Given the description of an element on the screen output the (x, y) to click on. 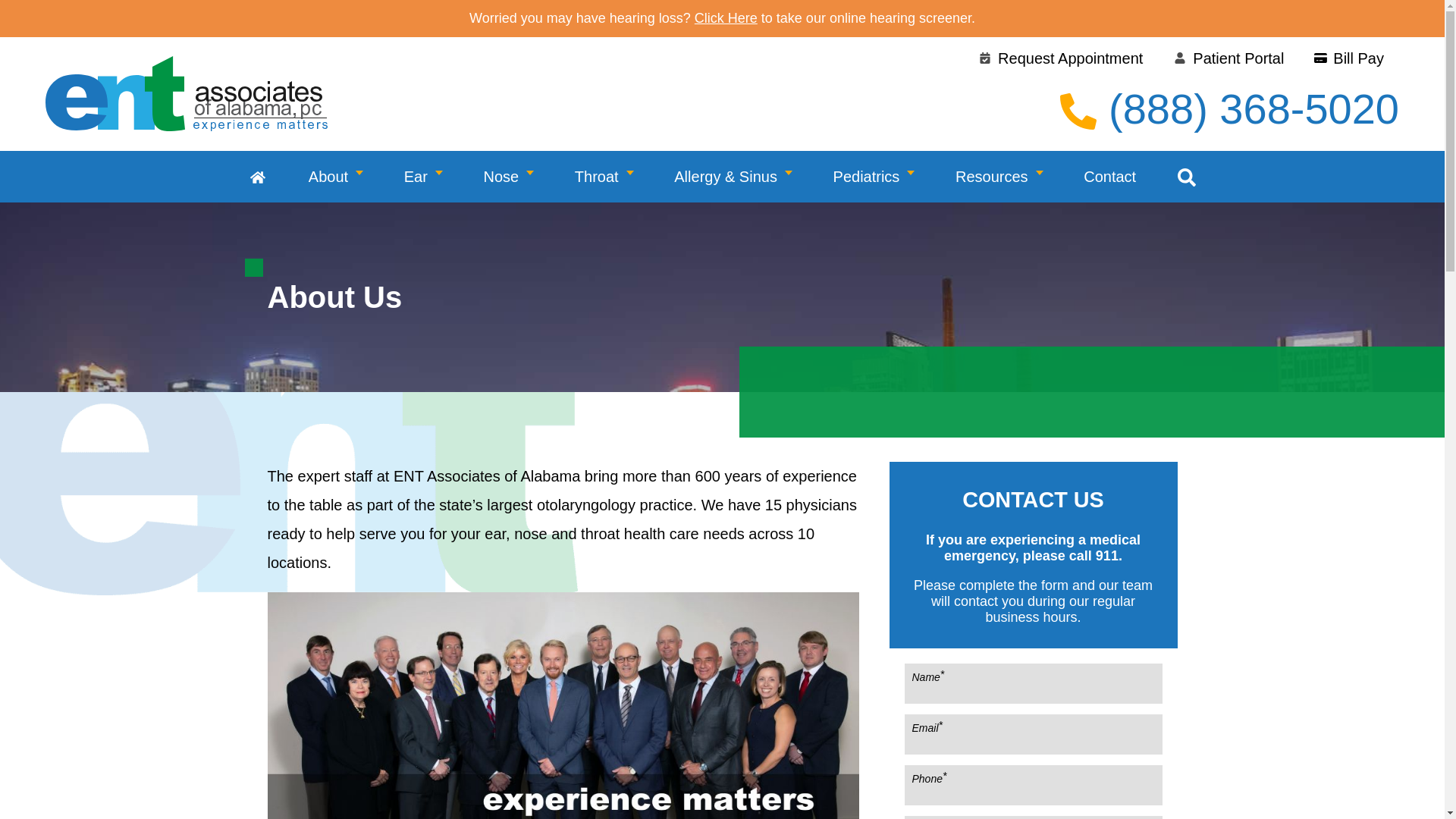
calendar-check Request Appointment (1060, 57)
user Patient Portal (1228, 57)
calendar-check (984, 57)
user (1179, 57)
Click Here (725, 17)
Ear (423, 176)
About (336, 176)
Bill Pay (1349, 57)
